Given the description of an element on the screen output the (x, y) to click on. 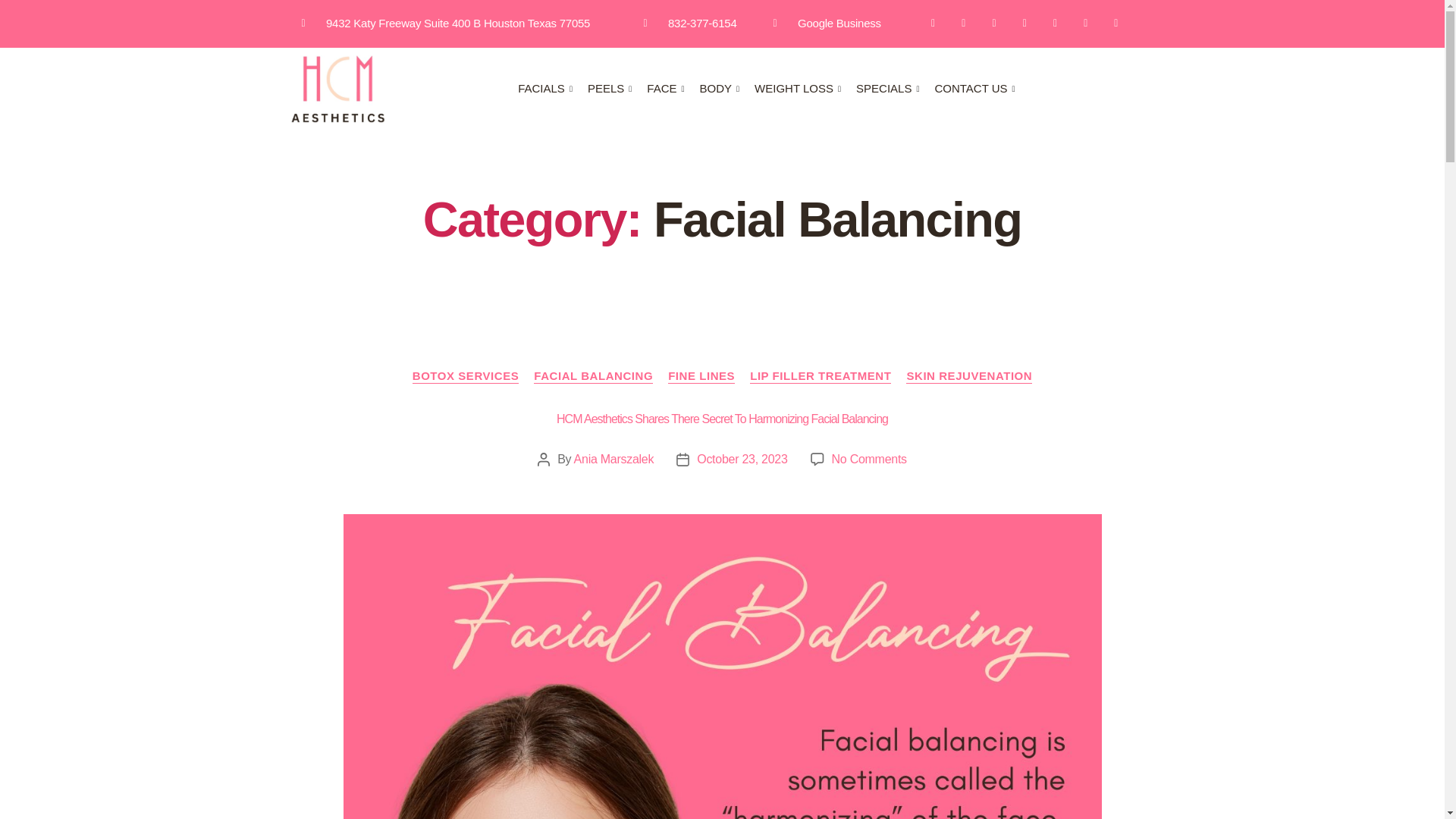
BODY (727, 88)
FACIALS (553, 88)
832-377-6154 (689, 23)
WEIGHT LOSS (805, 88)
9432 Katy Freeway Suite 400 B Houston Texas 77055 (446, 23)
Google Business (826, 23)
FACE (672, 88)
PEELS (617, 88)
